Given the description of an element on the screen output the (x, y) to click on. 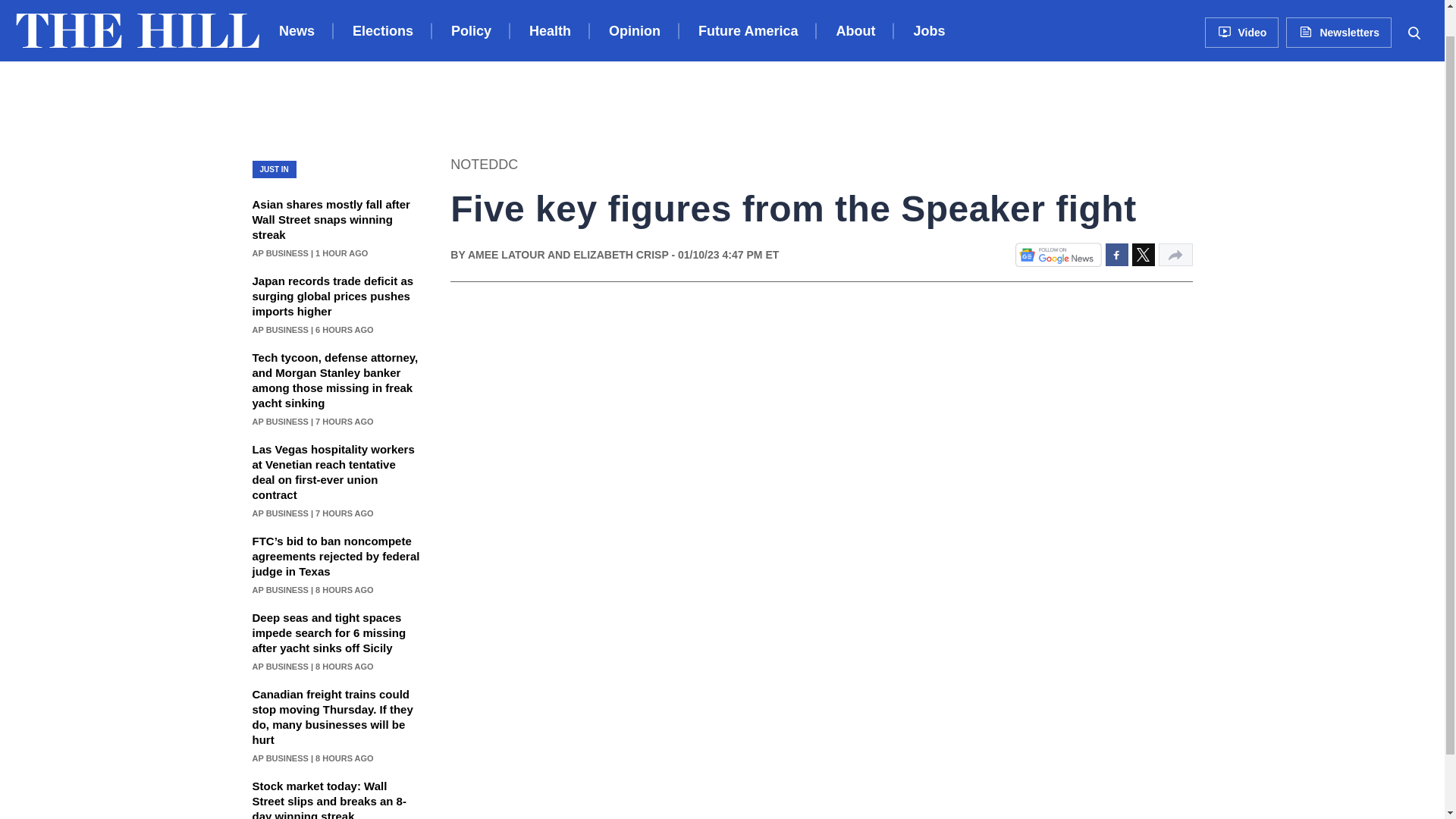
Opinion (634, 10)
Policy (471, 10)
Health (549, 10)
NotedDC (483, 164)
News (296, 10)
Search (1414, 4)
Elections (382, 10)
